Given the description of an element on the screen output the (x, y) to click on. 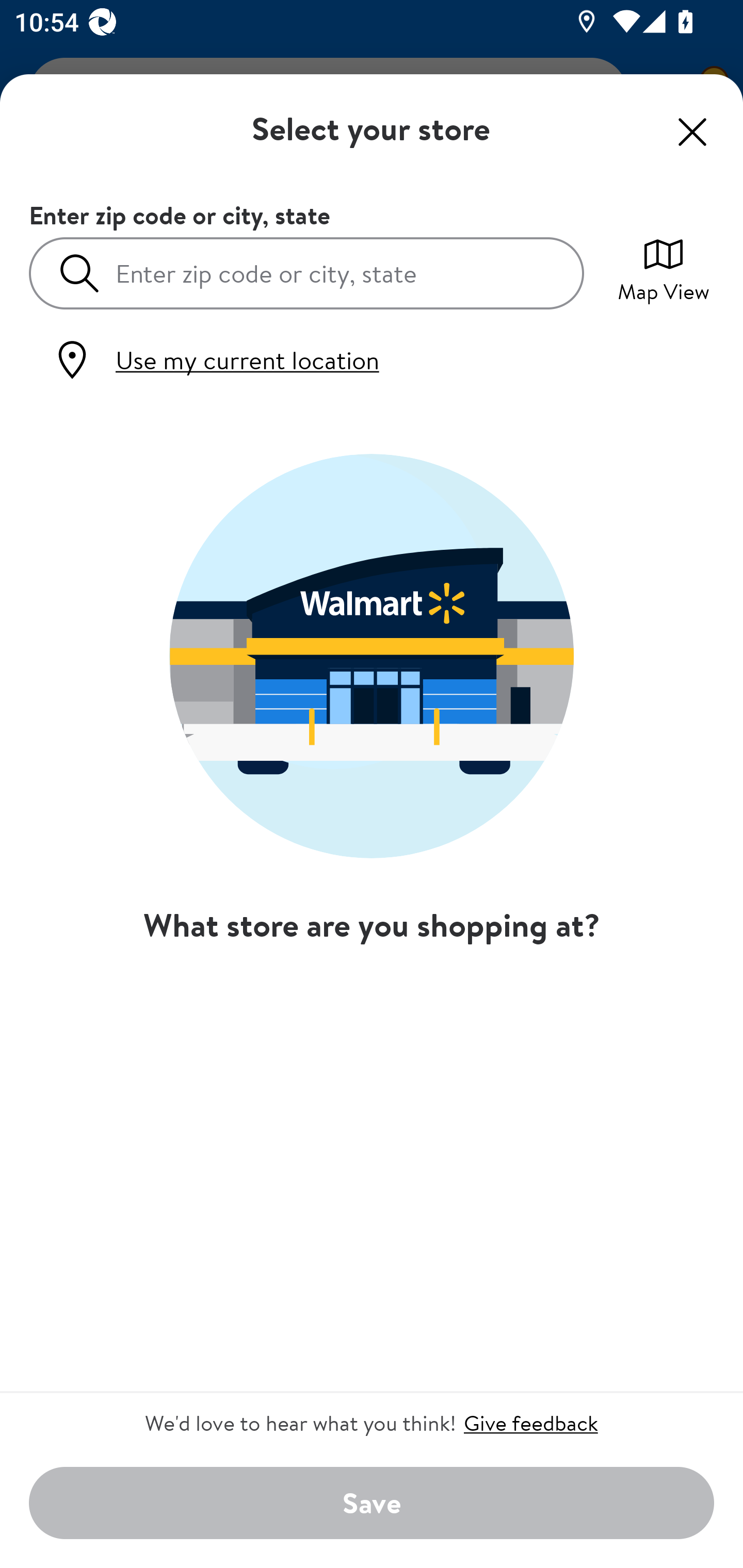
Close (692, 131)
Map View Switch to map view (663, 268)
Enter zip code or city, state (305, 272)
Use my current location (214, 359)
Give feedback (530, 1422)
Save (371, 1503)
